Given the description of an element on the screen output the (x, y) to click on. 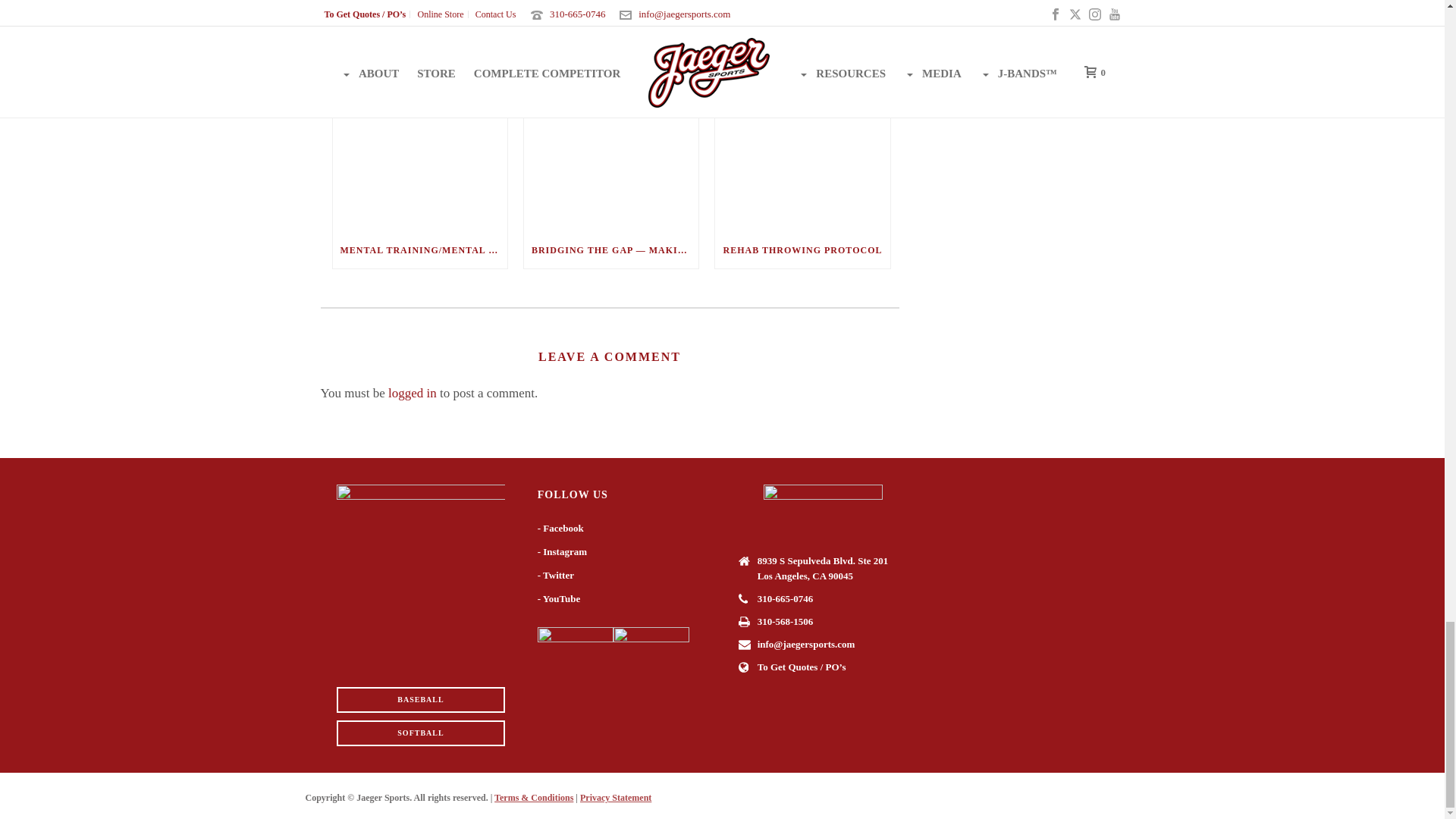
SOFTBALL (420, 733)
BASEBALL (420, 699)
Rehab Throwing Protocol (801, 157)
